Given the description of an element on the screen output the (x, y) to click on. 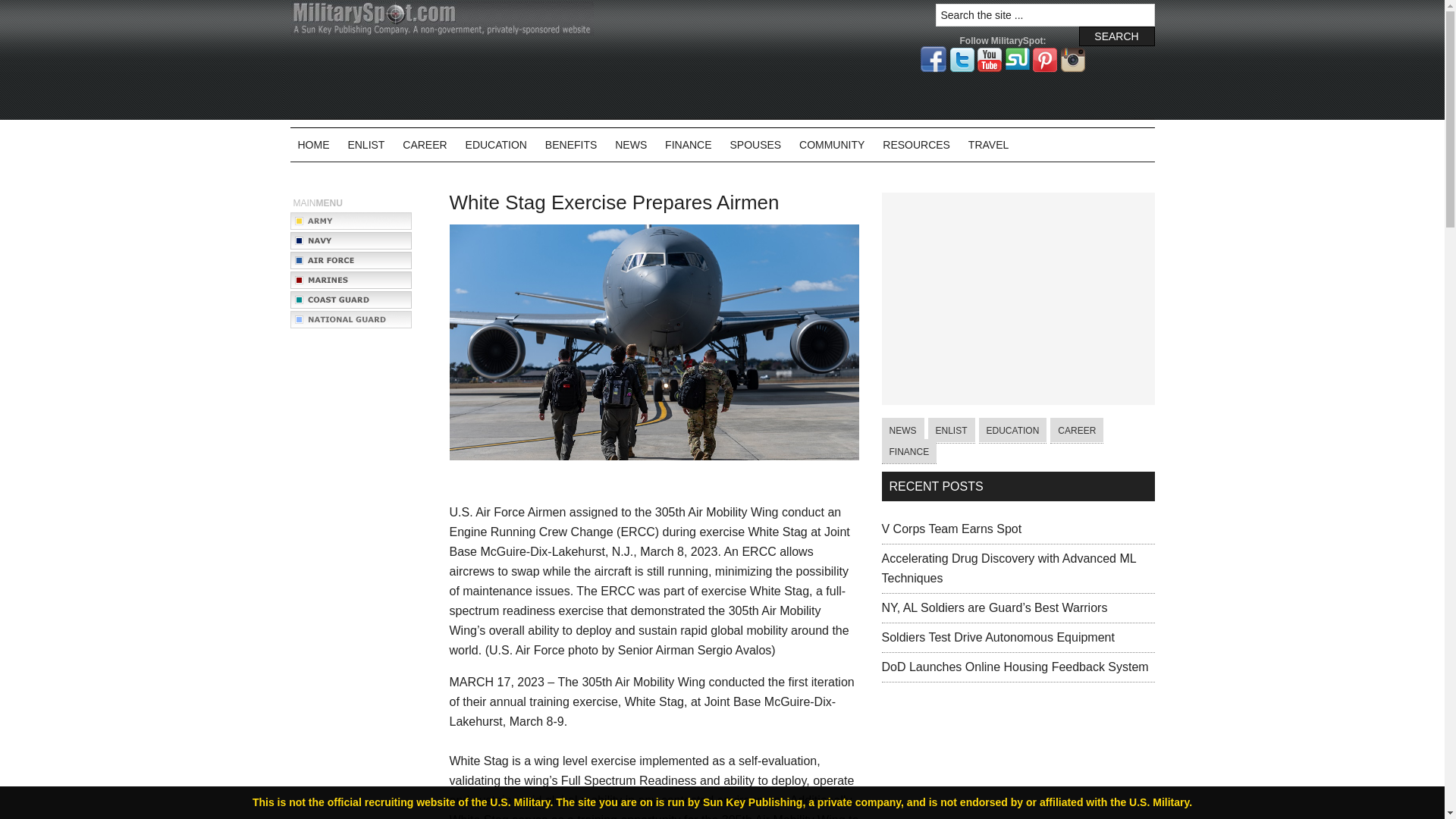
EDUCATION (496, 144)
ENLIST (365, 144)
Search (1116, 35)
MilitarySpot.com (440, 18)
BENEFITS (570, 144)
CAREER (424, 144)
Search (1116, 35)
HOME (312, 144)
